Given the description of an element on the screen output the (x, y) to click on. 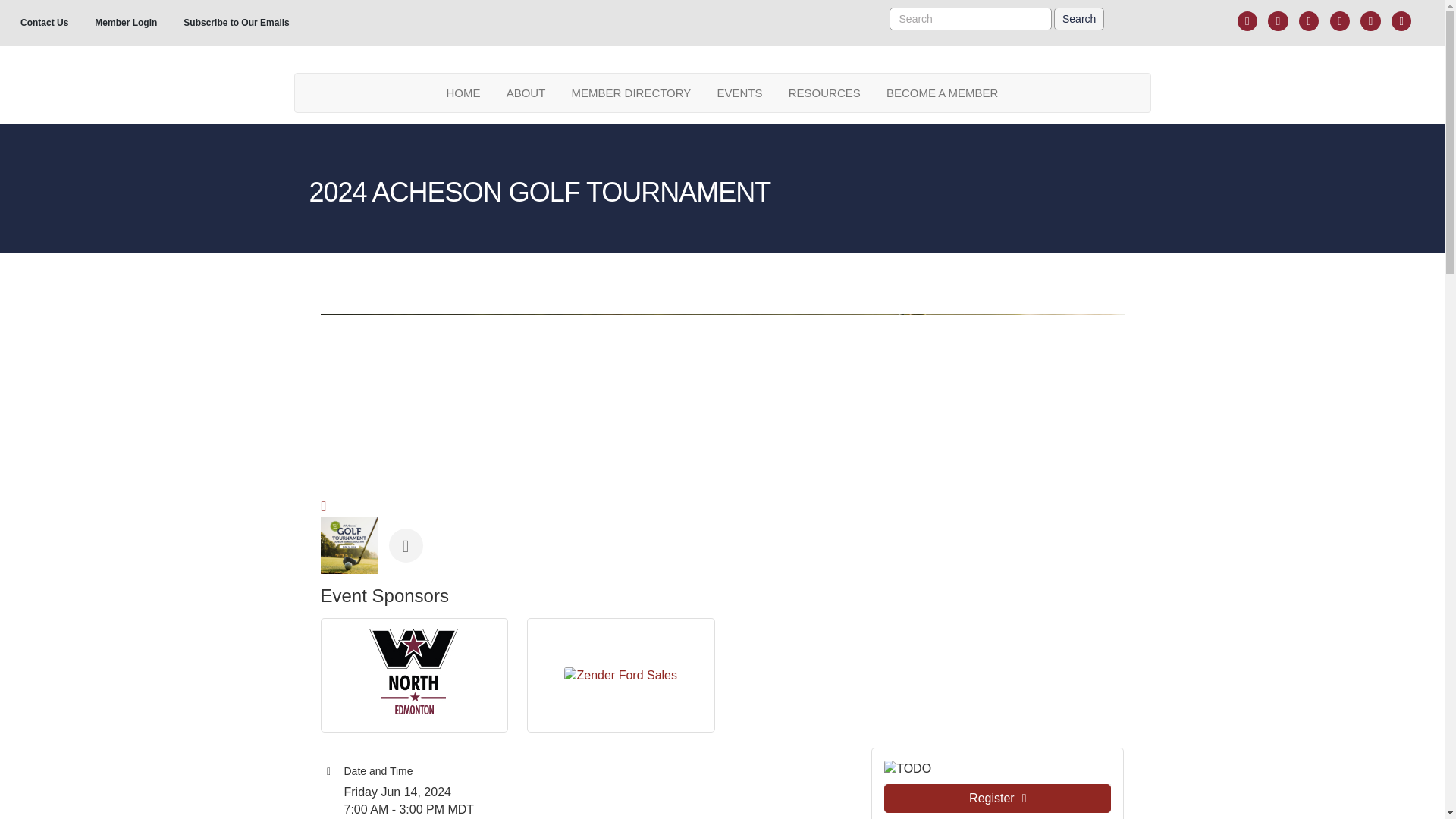
Search (1078, 18)
Search (1078, 18)
Member Login (125, 23)
Subscribe to Our Emails (235, 23)
Contact Us (44, 23)
Search (1078, 18)
